Given the description of an element on the screen output the (x, y) to click on. 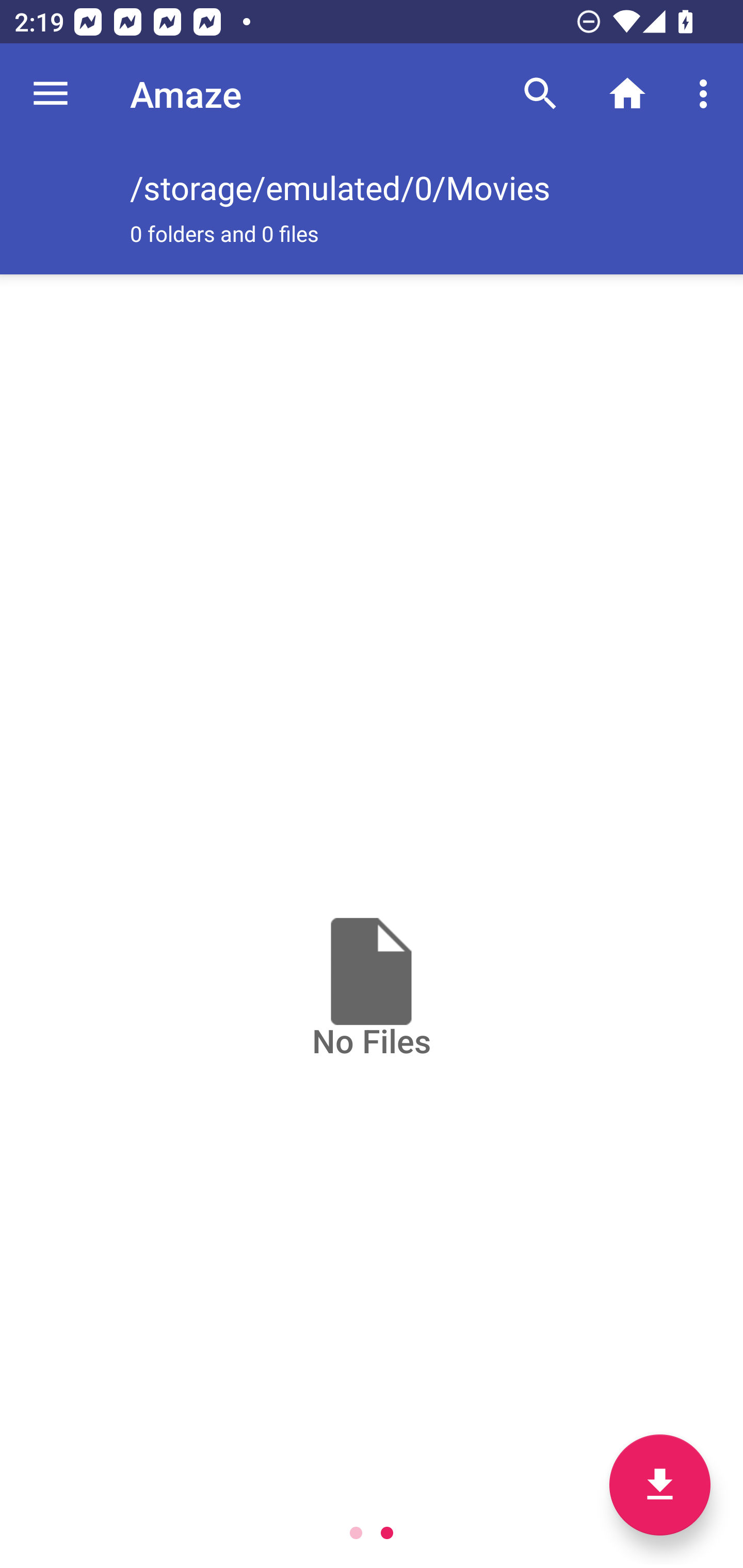
Navigate up (50, 93)
Search (540, 93)
Home (626, 93)
More options (706, 93)
